Given the description of an element on the screen output the (x, y) to click on. 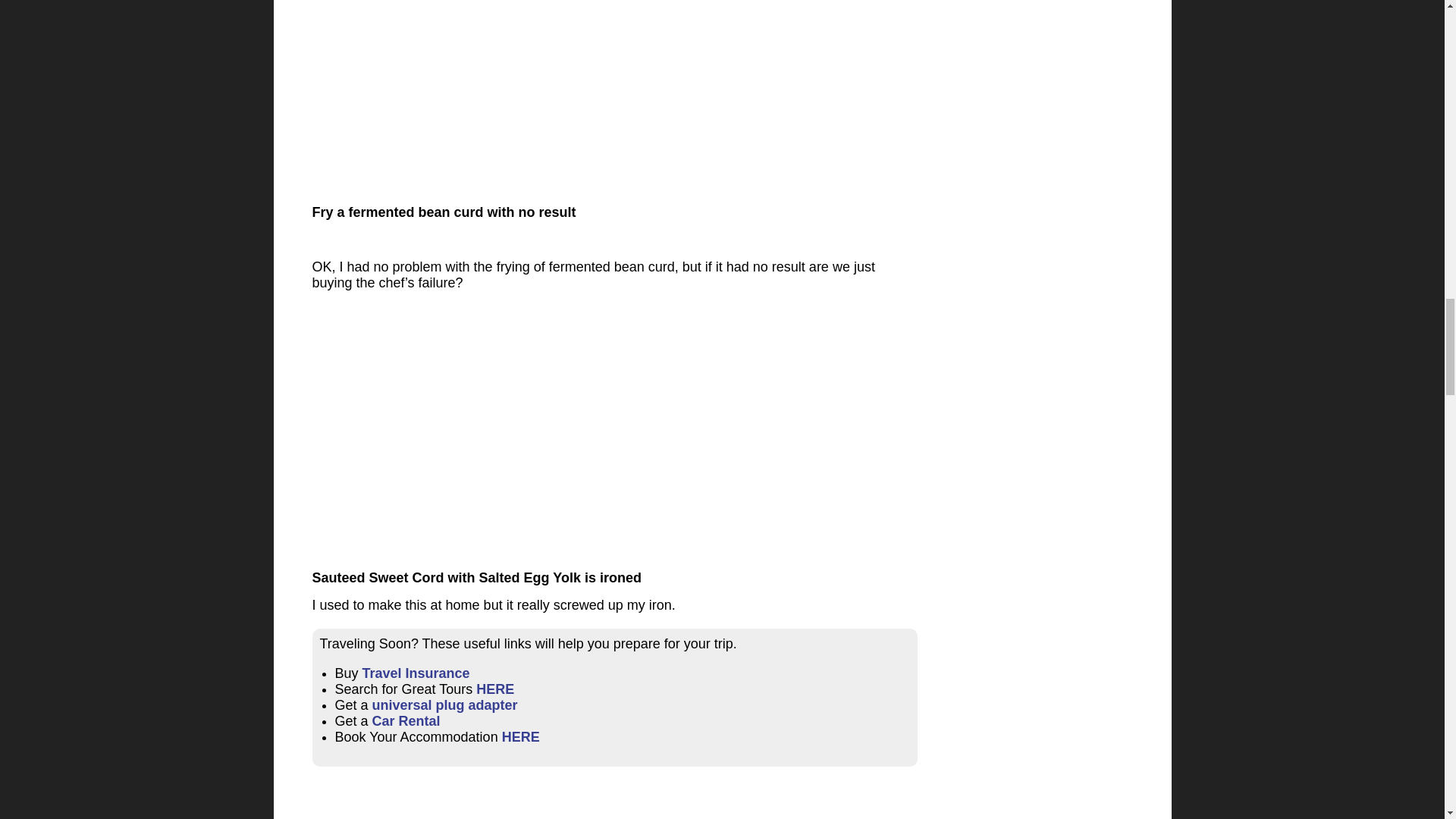
HERE (494, 688)
HERE (521, 736)
Car Rental (406, 720)
universal plug adapter (445, 704)
Travel Insurance (416, 672)
